Given the description of an element on the screen output the (x, y) to click on. 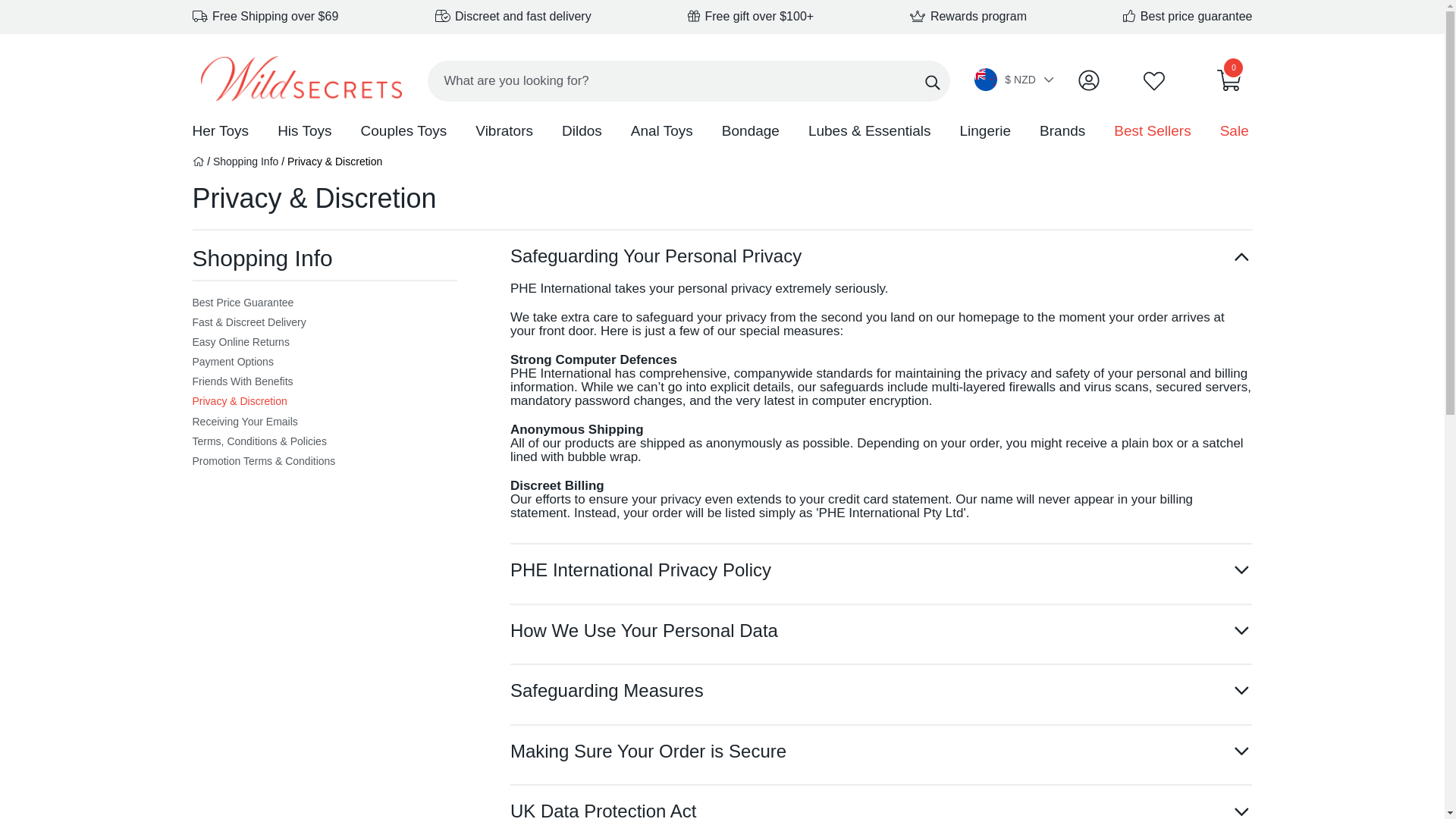
Her Toys (220, 132)
Discreet and fast delivery (513, 15)
0 (1229, 84)
Rewards program (968, 15)
Best price guarantee (1187, 15)
